Given the description of an element on the screen output the (x, y) to click on. 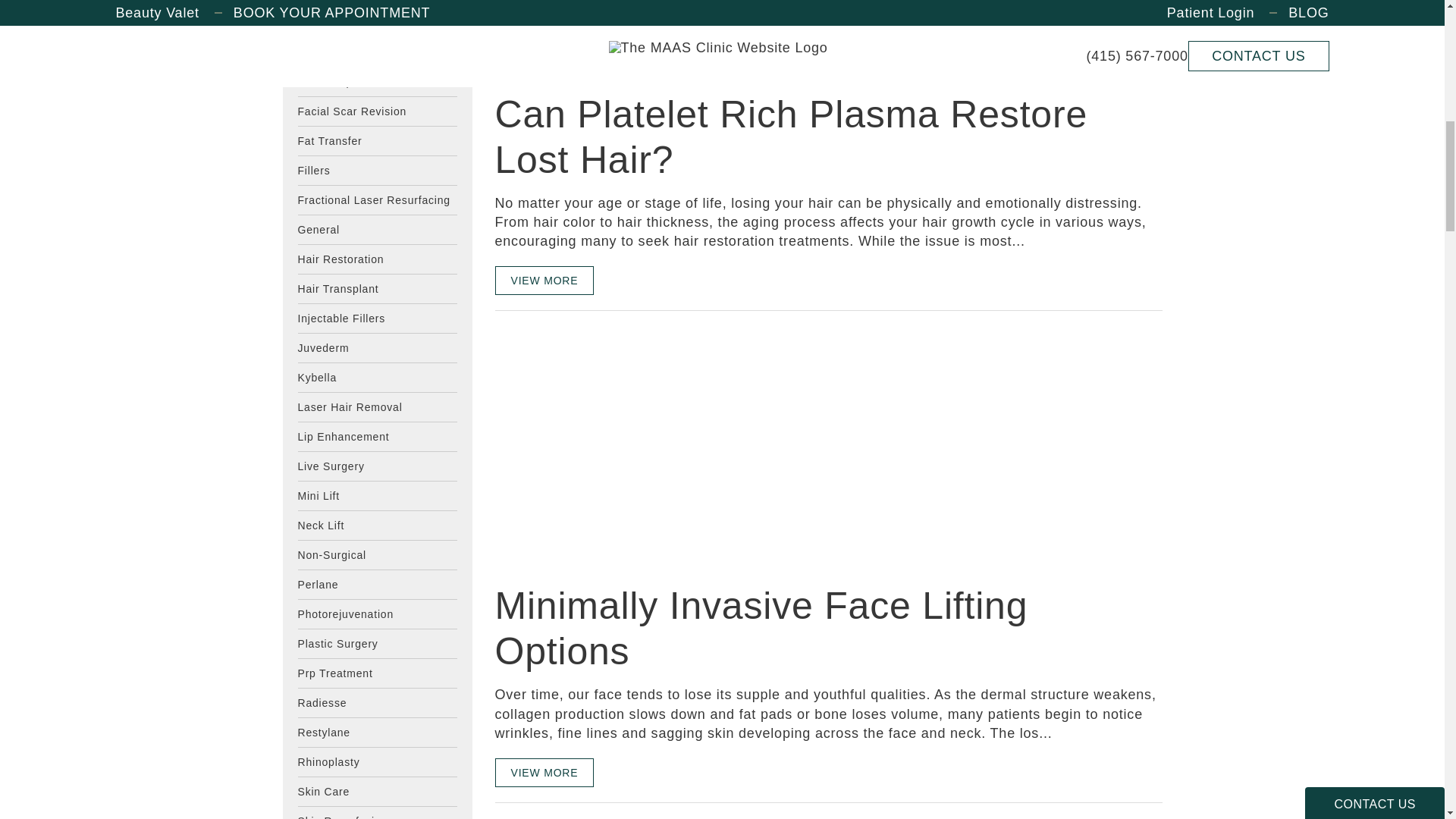
View blog article (608, 69)
View blog article (608, 446)
View full blog article (544, 280)
View full blog article (544, 772)
View full blog article (544, 18)
